Given the description of an element on the screen output the (x, y) to click on. 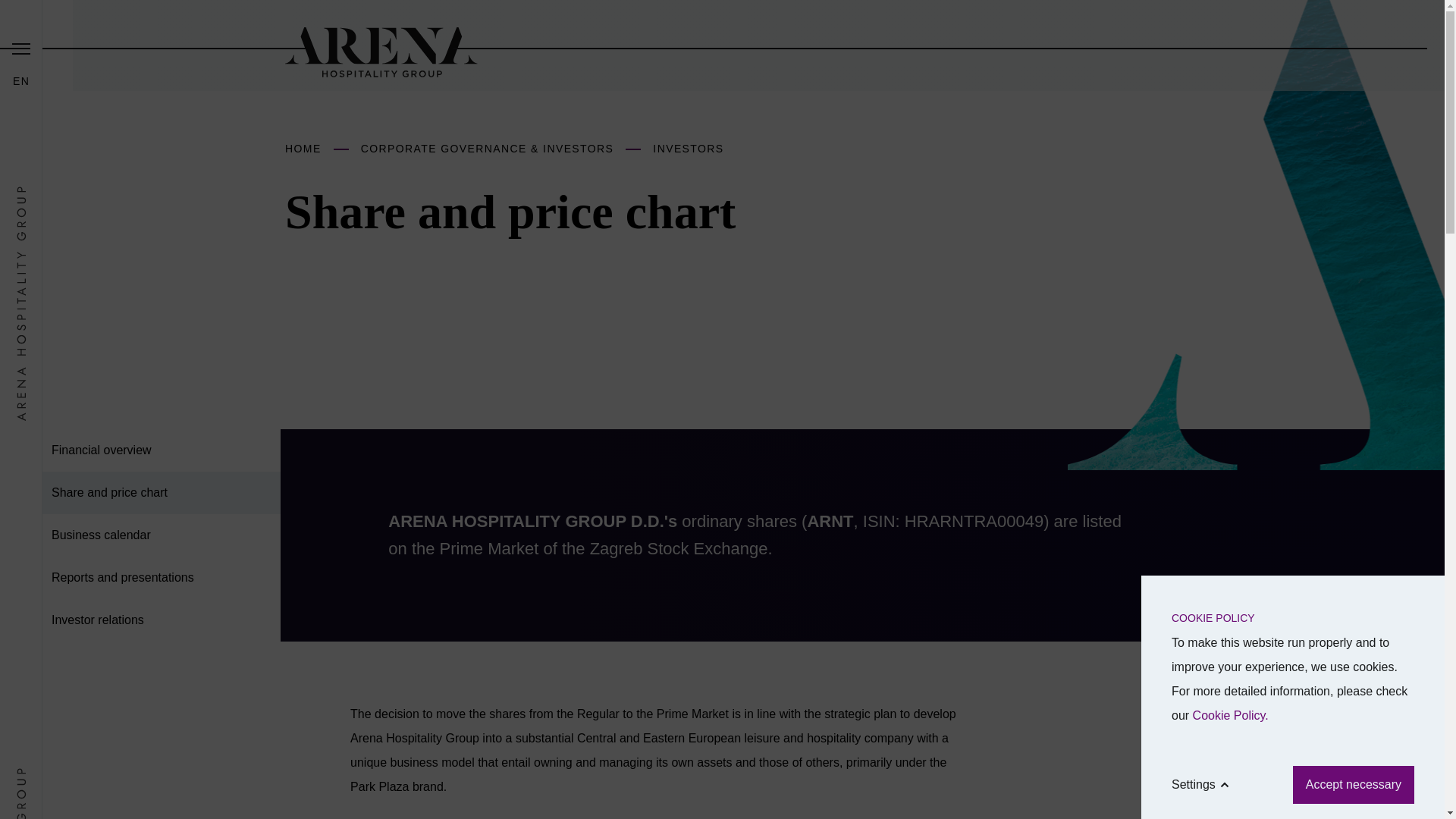
EN (21, 80)
Home (303, 148)
Accept necessary (1352, 784)
Investors (687, 148)
Settings (1203, 784)
